Given the description of an element on the screen output the (x, y) to click on. 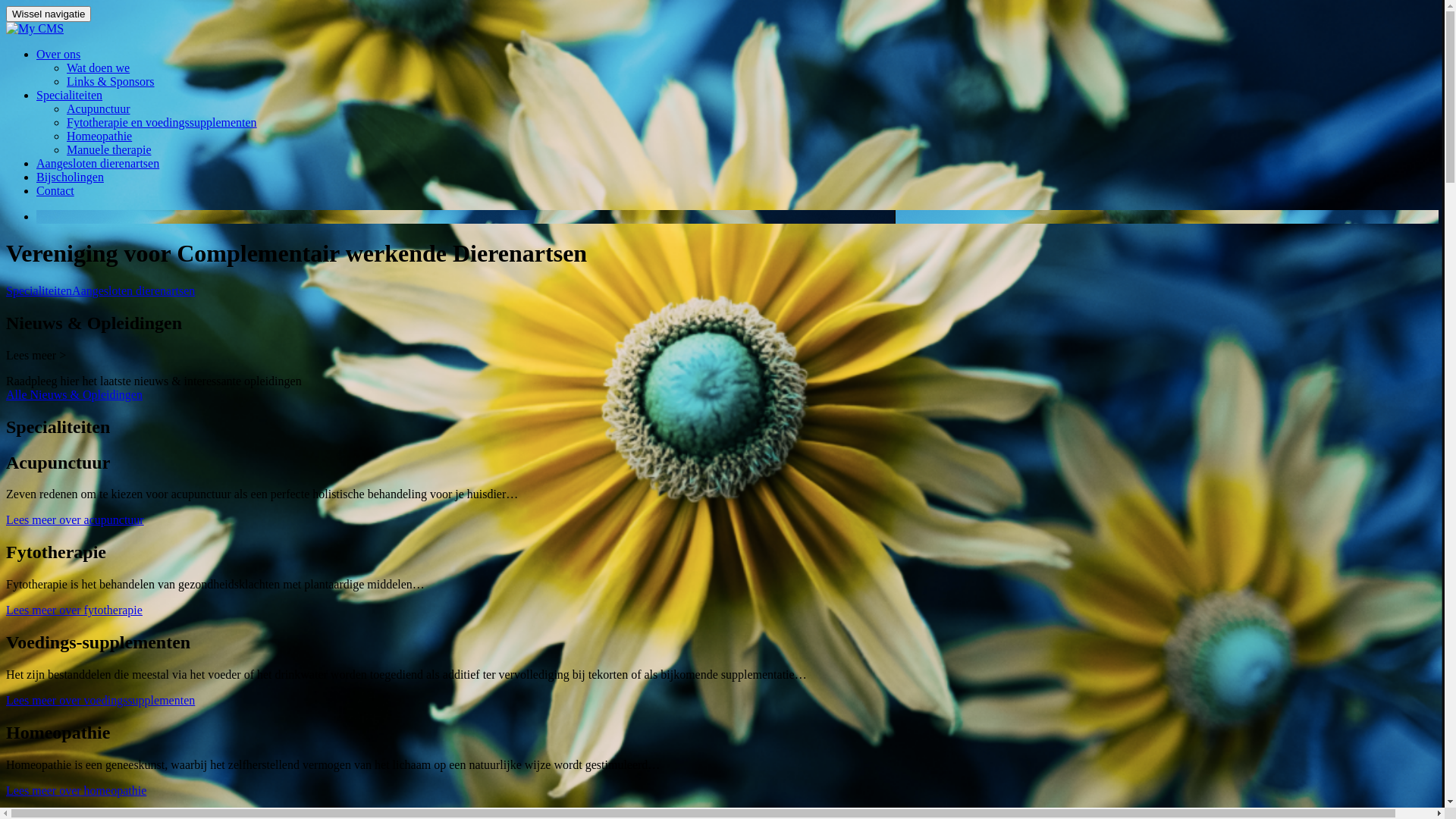
Links & Sponsors Element type: text (110, 81)
Lees meer over acupunctuur Element type: text (75, 519)
Bijscholingen Element type: text (69, 176)
Over ons Element type: text (58, 53)
Aangesloten dierenartsen Element type: text (133, 290)
Wissel navigatie Element type: text (48, 13)
Manuele therapie Element type: text (108, 149)
Fytotherapie en voedingssupplementen Element type: text (161, 122)
Lees meer over homeopathie Element type: text (76, 790)
Specialiteiten Element type: text (69, 94)
Aangesloten dierenartsen Element type: text (97, 162)
Specialiteiten Element type: text (39, 290)
Naar de inhoud springen Element type: text (5, 47)
Wat doen we Element type: text (97, 67)
Lees meer over voedingssupplementen Element type: text (100, 699)
Homeopathie Element type: text (98, 135)
Contact Element type: text (55, 190)
Lees meer over fytotherapie Element type: text (74, 609)
Acupunctuur Element type: text (98, 108)
Alle Nieuws & Opleidingen Element type: text (74, 394)
